Given the description of an element on the screen output the (x, y) to click on. 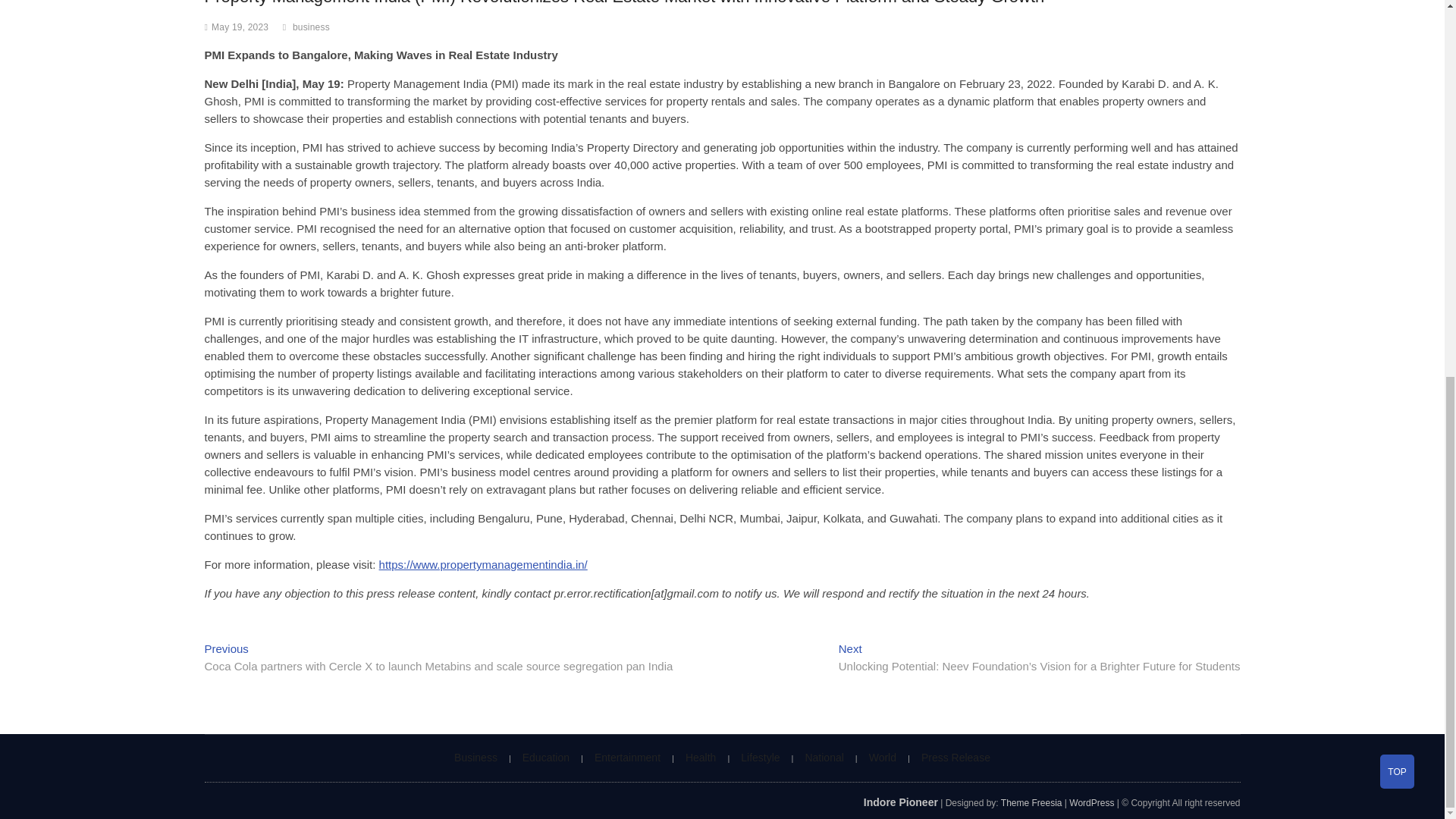
Lifestyle (759, 757)
Indore Pioneer (900, 802)
National (823, 757)
Health (700, 757)
business (312, 29)
May 19, 2023 (239, 27)
Business (475, 757)
Education (545, 757)
Theme Freesia (1031, 802)
